Given the description of an element on the screen output the (x, y) to click on. 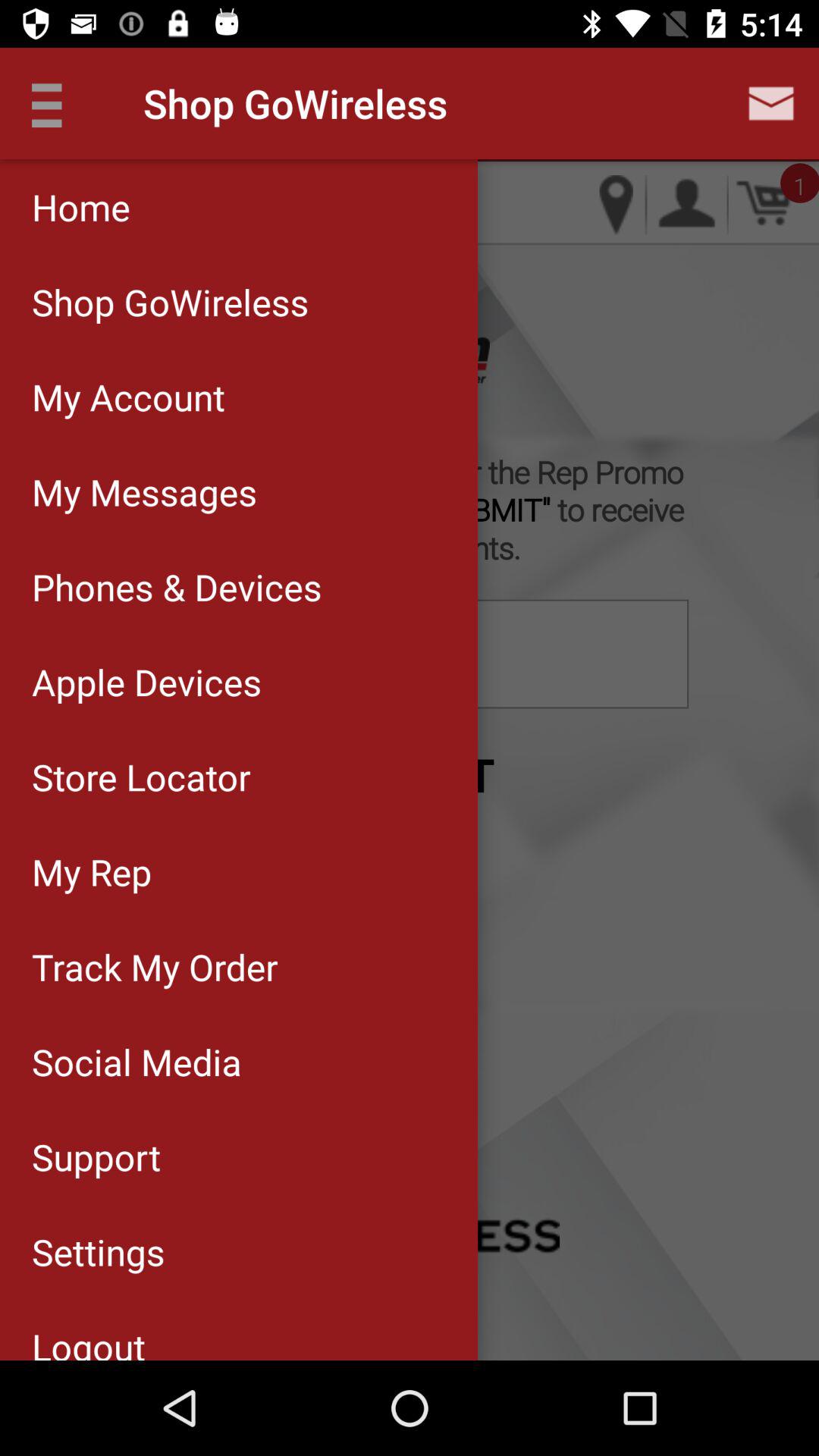
turn off item above social media (238, 966)
